Given the description of an element on the screen output the (x, y) to click on. 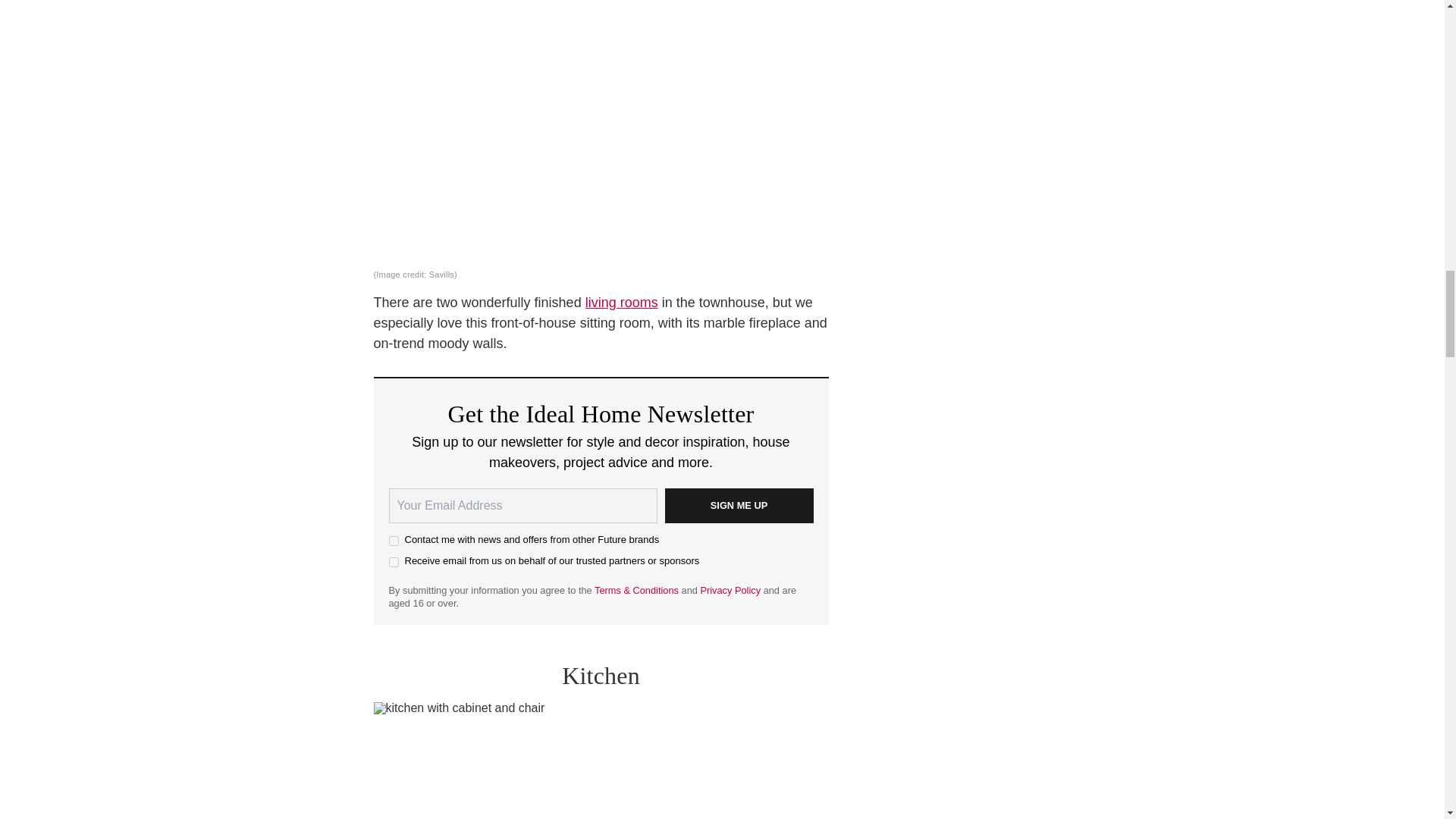
Sign me up (737, 505)
on (392, 541)
on (392, 562)
